Given the description of an element on the screen output the (x, y) to click on. 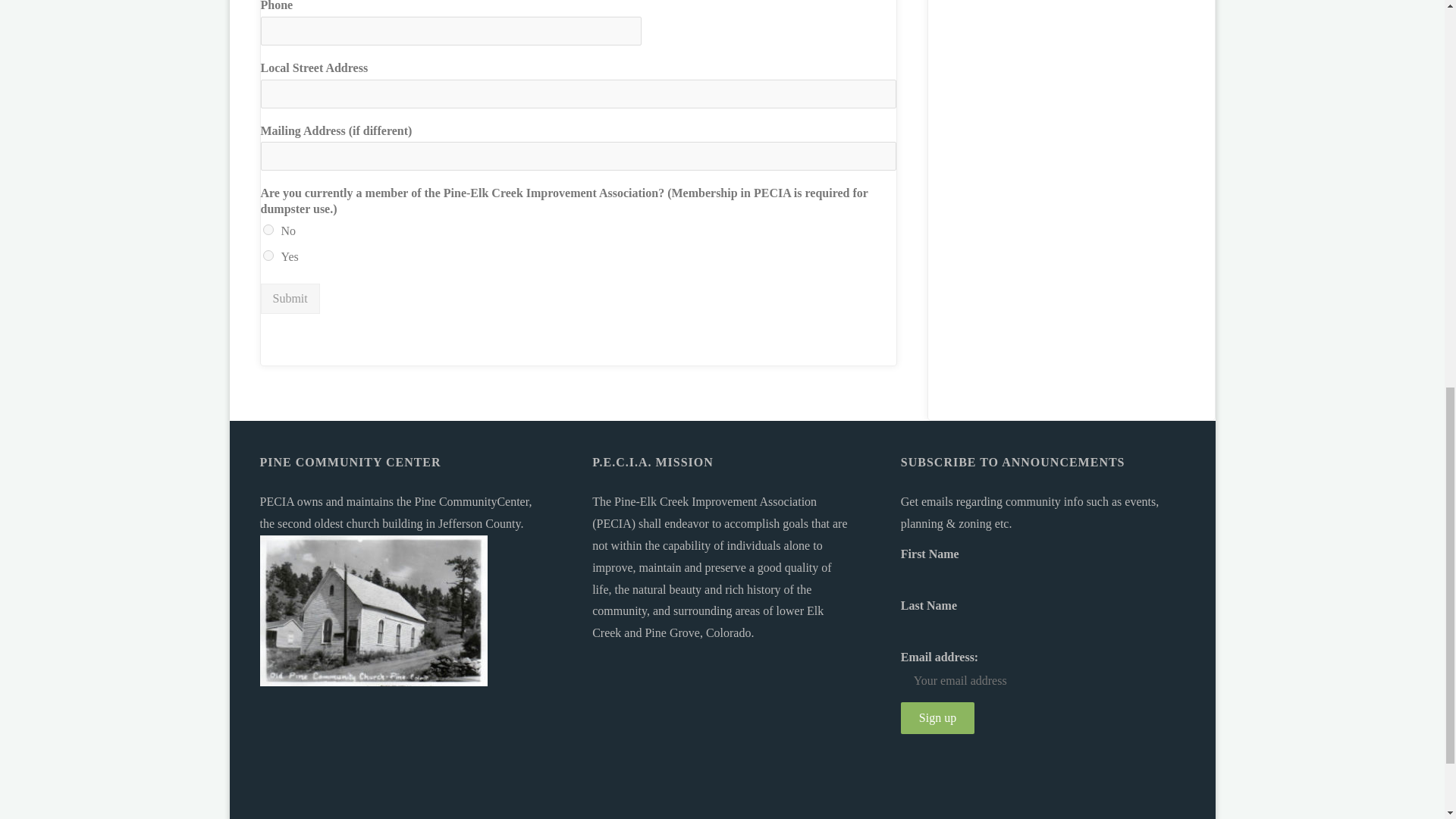
Sign up (937, 717)
No (267, 229)
Yes (267, 255)
Submit (290, 298)
Sign up (937, 717)
